Given the description of an element on the screen output the (x, y) to click on. 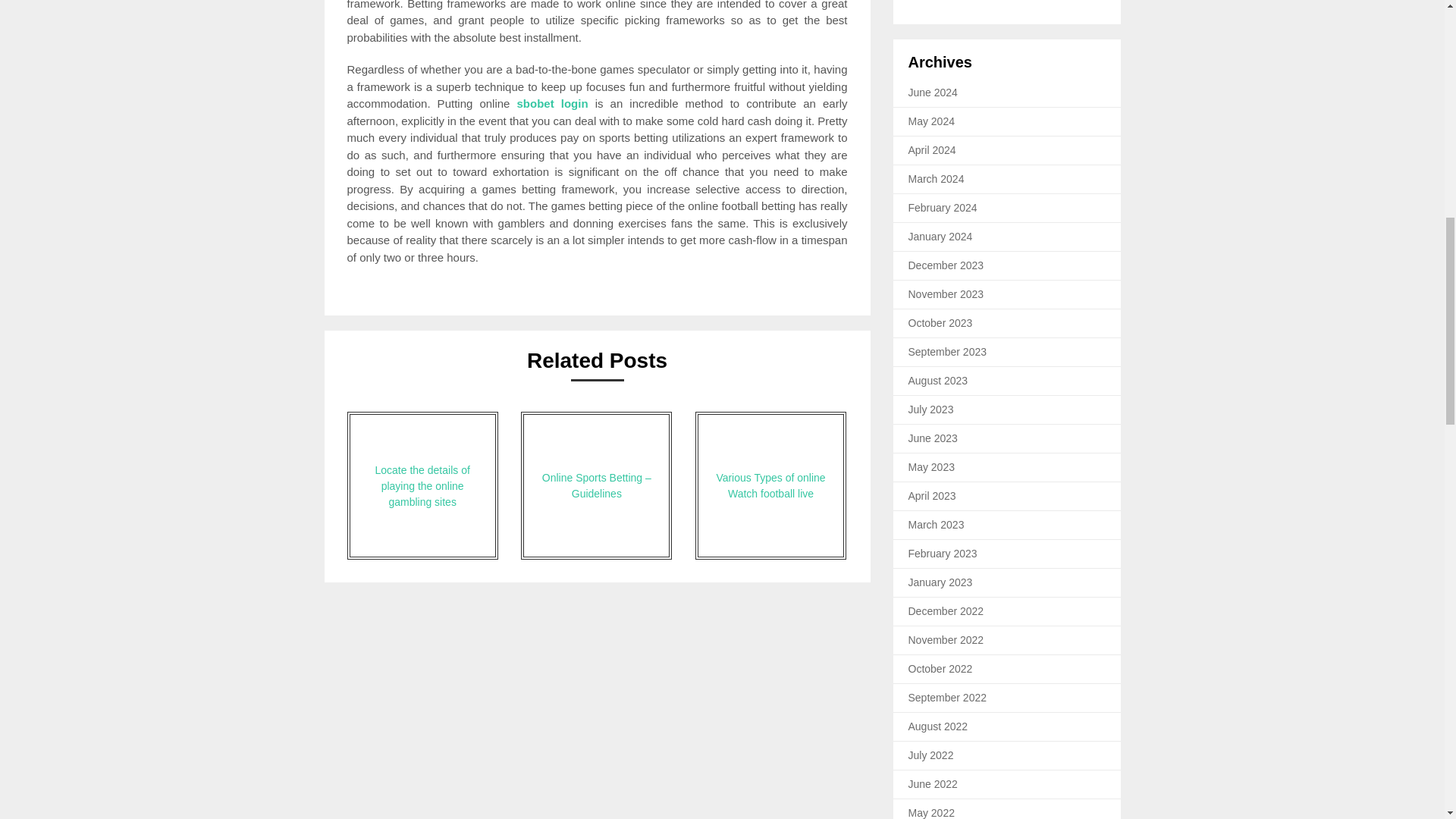
July 2023 (930, 409)
Locate the details of playing the online gambling sites (422, 485)
November 2022 (946, 639)
Locate the details of playing the online gambling sites (422, 485)
February 2024 (942, 207)
March 2024 (935, 178)
May 2023 (931, 467)
May 2024 (931, 121)
February 2023 (942, 553)
August 2023 (938, 380)
March 2023 (935, 524)
September 2023 (947, 351)
November 2023 (946, 294)
June 2023 (933, 438)
October 2023 (940, 322)
